Given the description of an element on the screen output the (x, y) to click on. 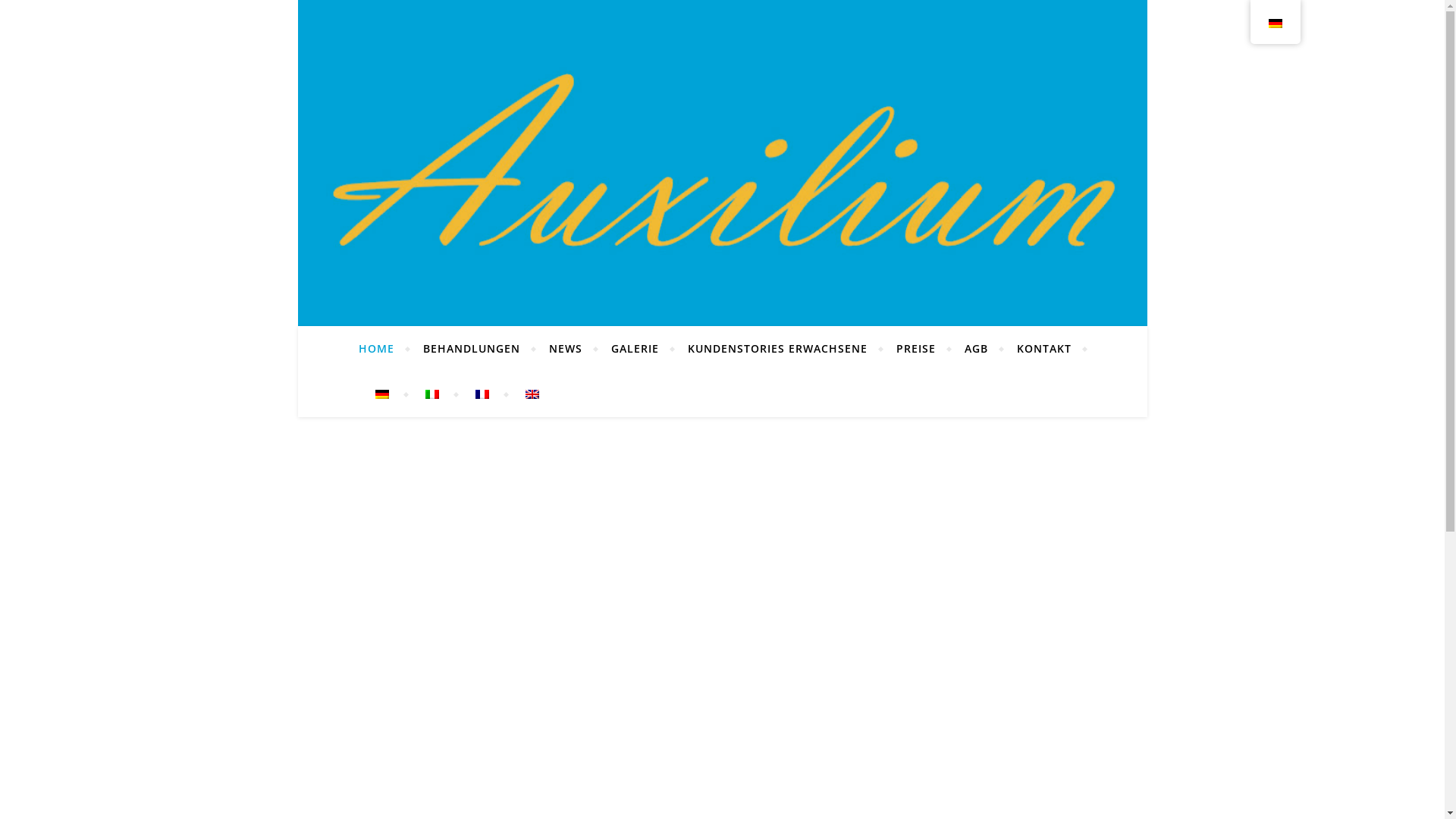
Deutsch Element type: hover (381, 393)
KUNDENSTORIES ERWACHSENE Element type: text (777, 348)
BEHANDLUNGEN Element type: text (470, 348)
AGB Element type: text (975, 348)
English (UK) Element type: hover (531, 393)
KONTAKT Element type: text (1044, 348)
Italiano Element type: hover (431, 393)
HOME Element type: text (381, 348)
Deutsch Element type: hover (1274, 23)
NEWS Element type: text (564, 348)
GALERIE Element type: text (634, 348)
PREISE Element type: text (914, 348)
